Given the description of an element on the screen output the (x, y) to click on. 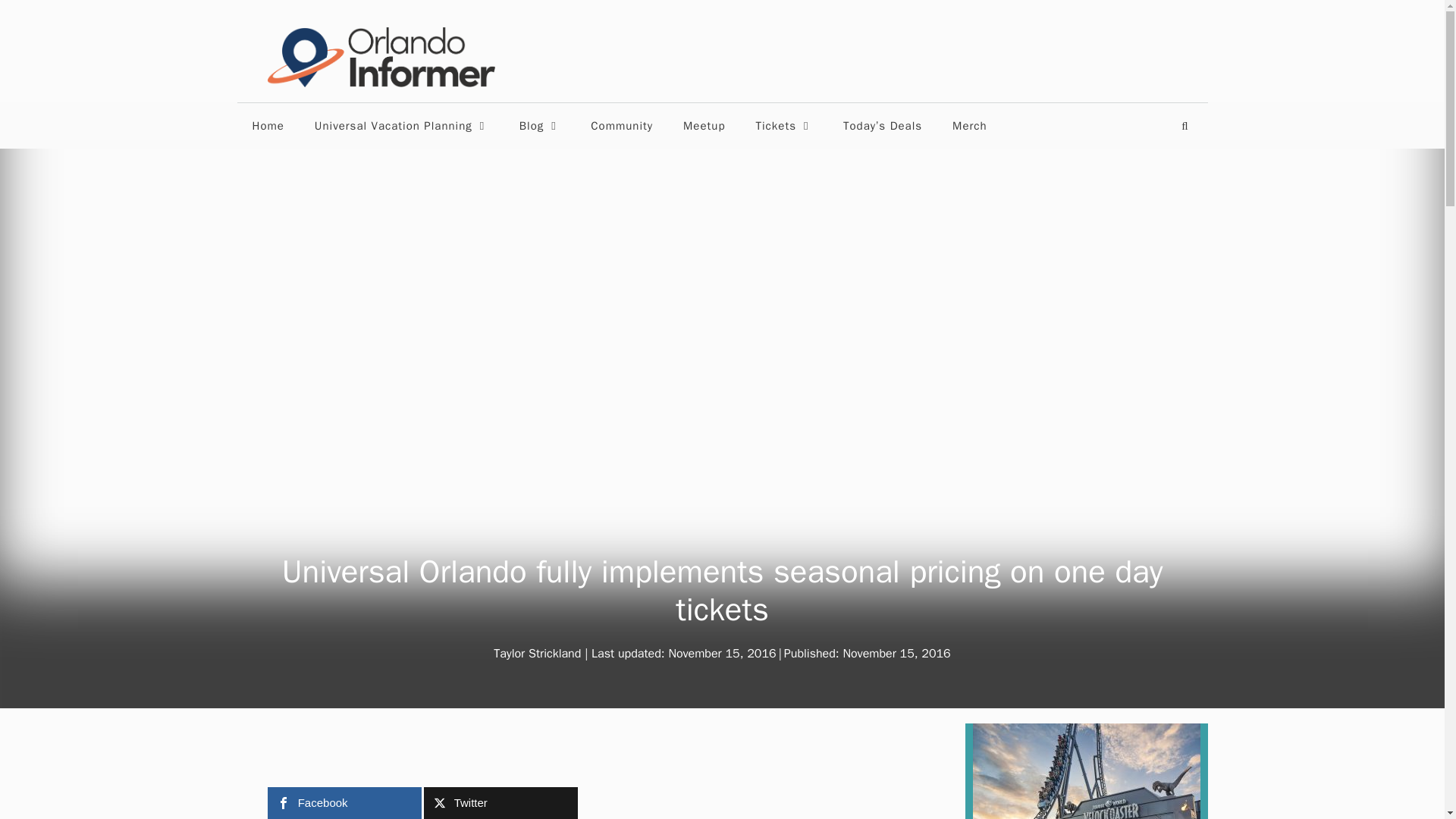
View all posts by Taylor Strickland (536, 653)
Home (266, 125)
Blog (539, 125)
Meetup (703, 125)
Universal Vacation Planning (401, 125)
Twitter (499, 803)
Merch (969, 125)
Facebook (343, 803)
Taylor Strickland (536, 653)
Tickets (784, 125)
Community (621, 125)
